Given the description of an element on the screen output the (x, y) to click on. 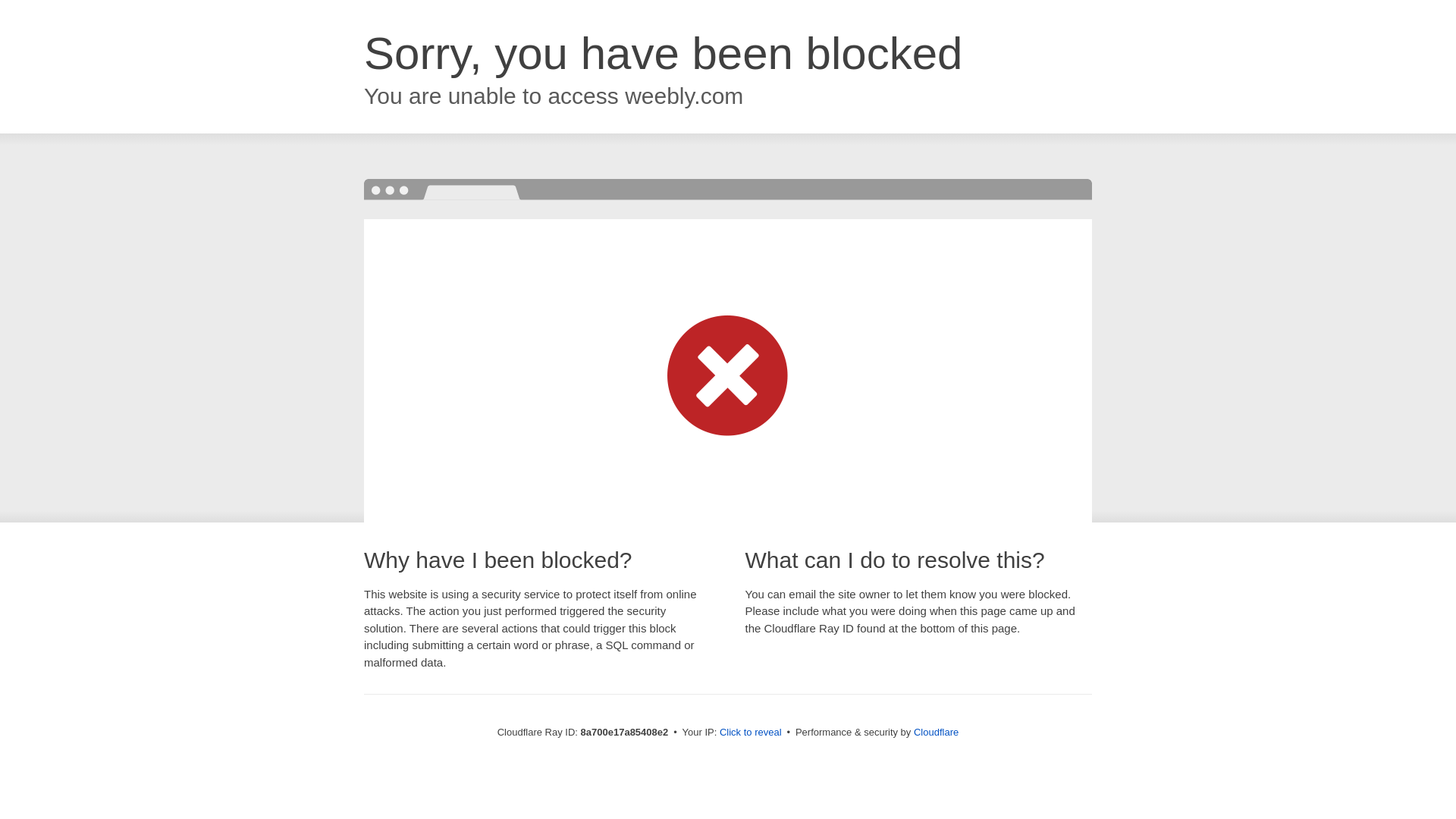
Cloudflare (936, 731)
Click to reveal (750, 732)
